Given the description of an element on the screen output the (x, y) to click on. 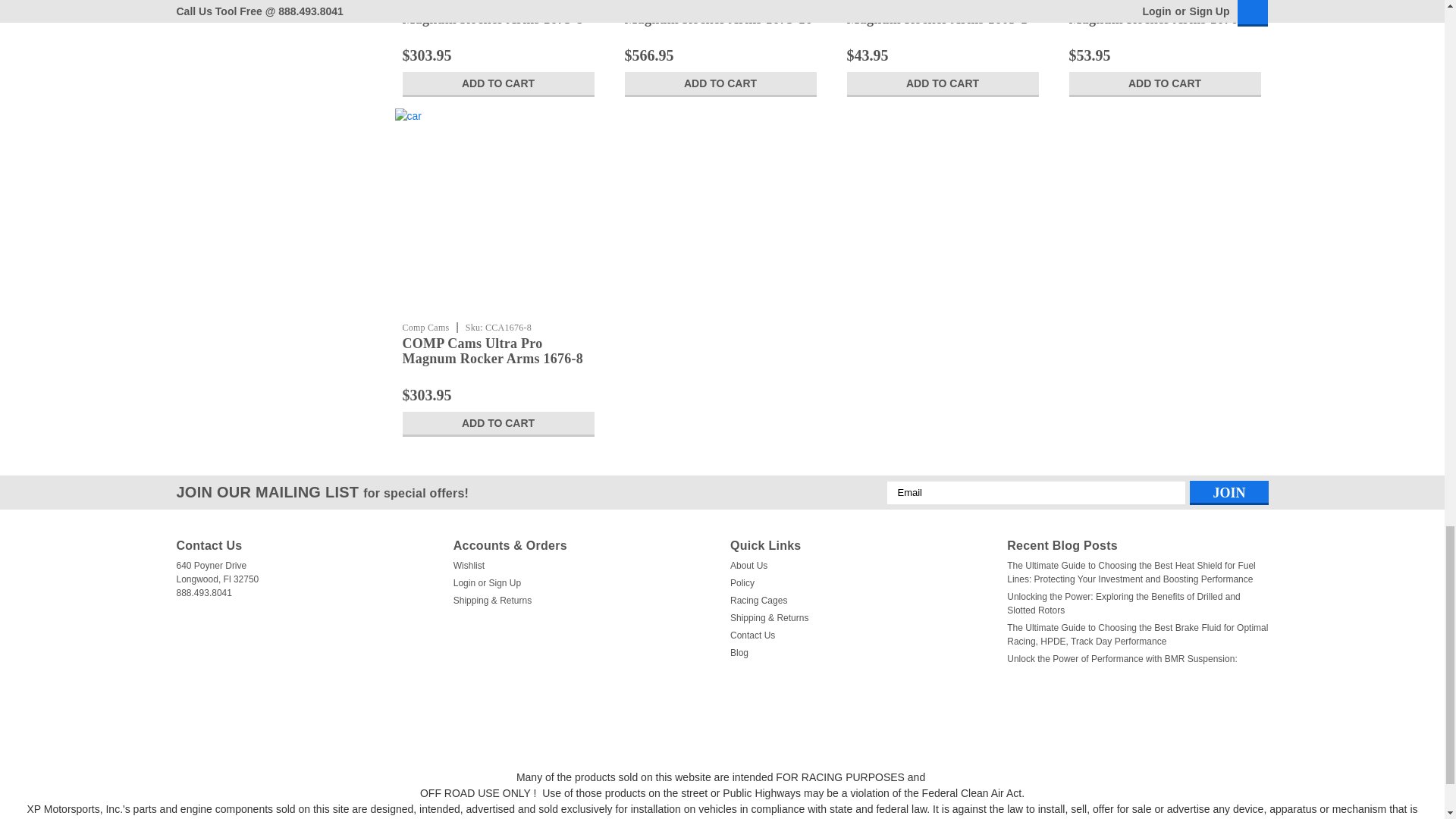
Join (1228, 492)
